Given the description of an element on the screen output the (x, y) to click on. 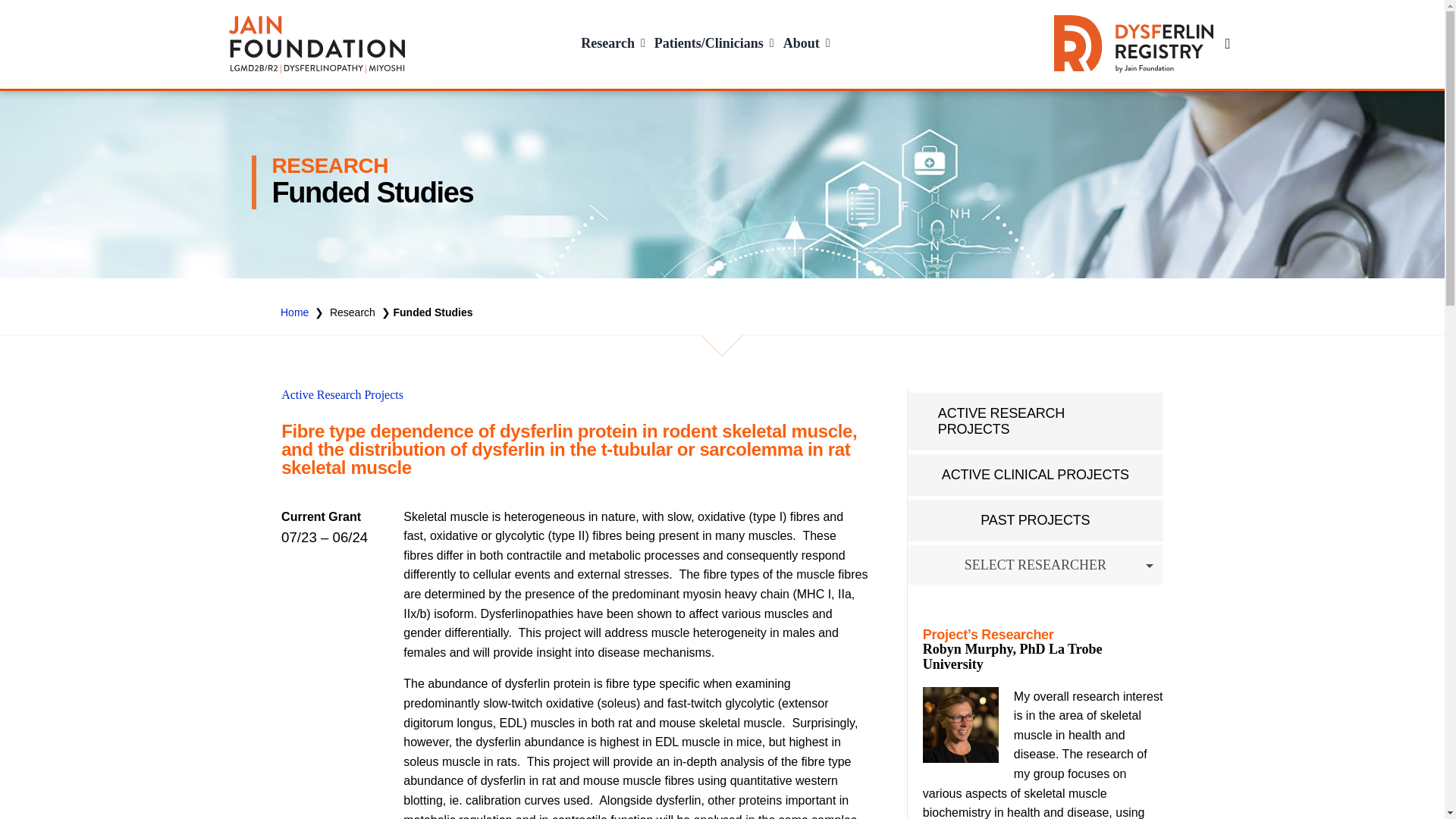
Active Research Projects (342, 394)
